Given the description of an element on the screen output the (x, y) to click on. 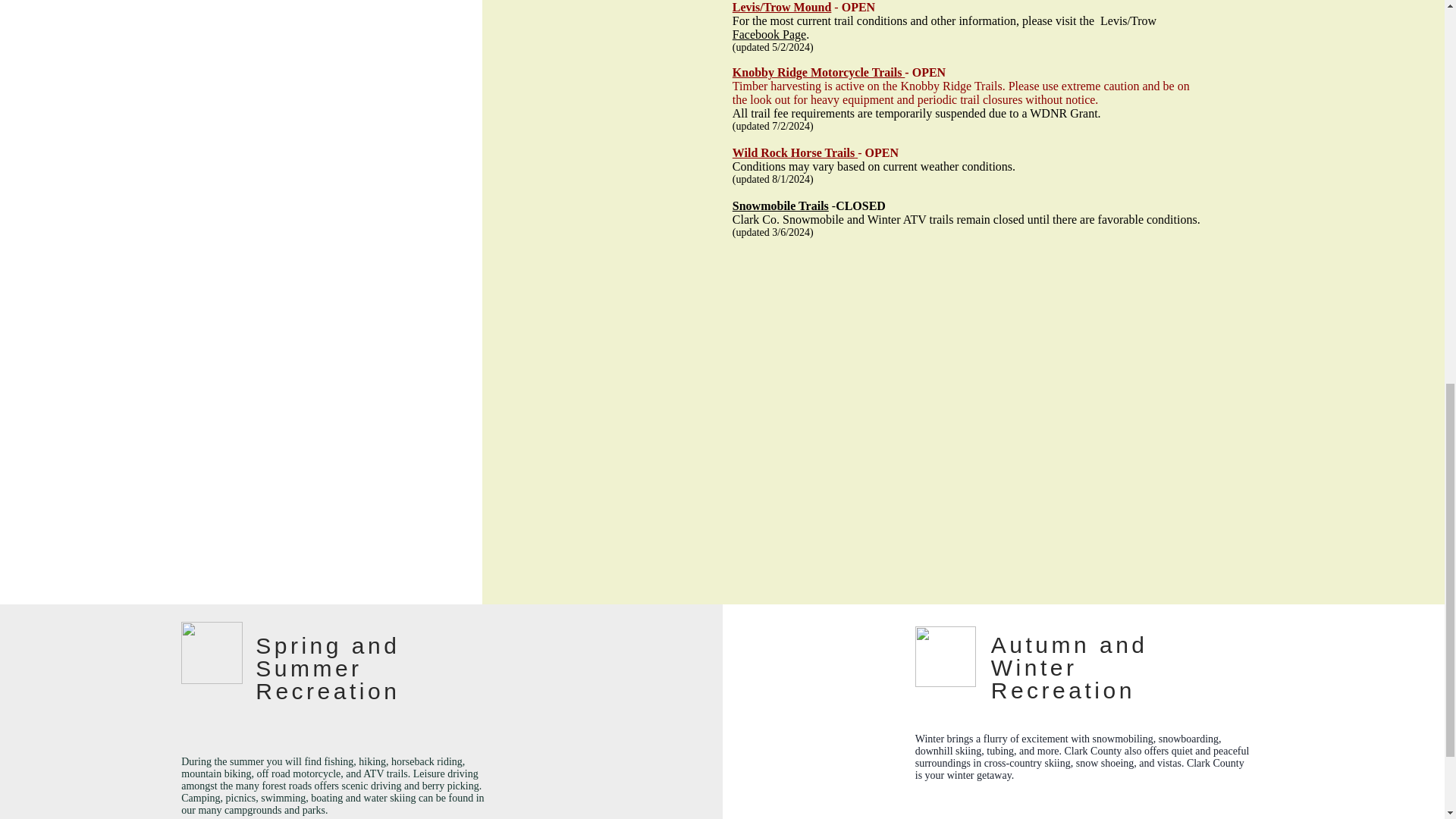
Snowmobile Trails (780, 205)
- OPEN  (926, 72)
Knobby Ridge Motorcycle Trails (818, 72)
Wild Rock Horse Trails  (794, 152)
Facebook Page (769, 33)
OPEN  (882, 152)
